Given the description of an element on the screen output the (x, y) to click on. 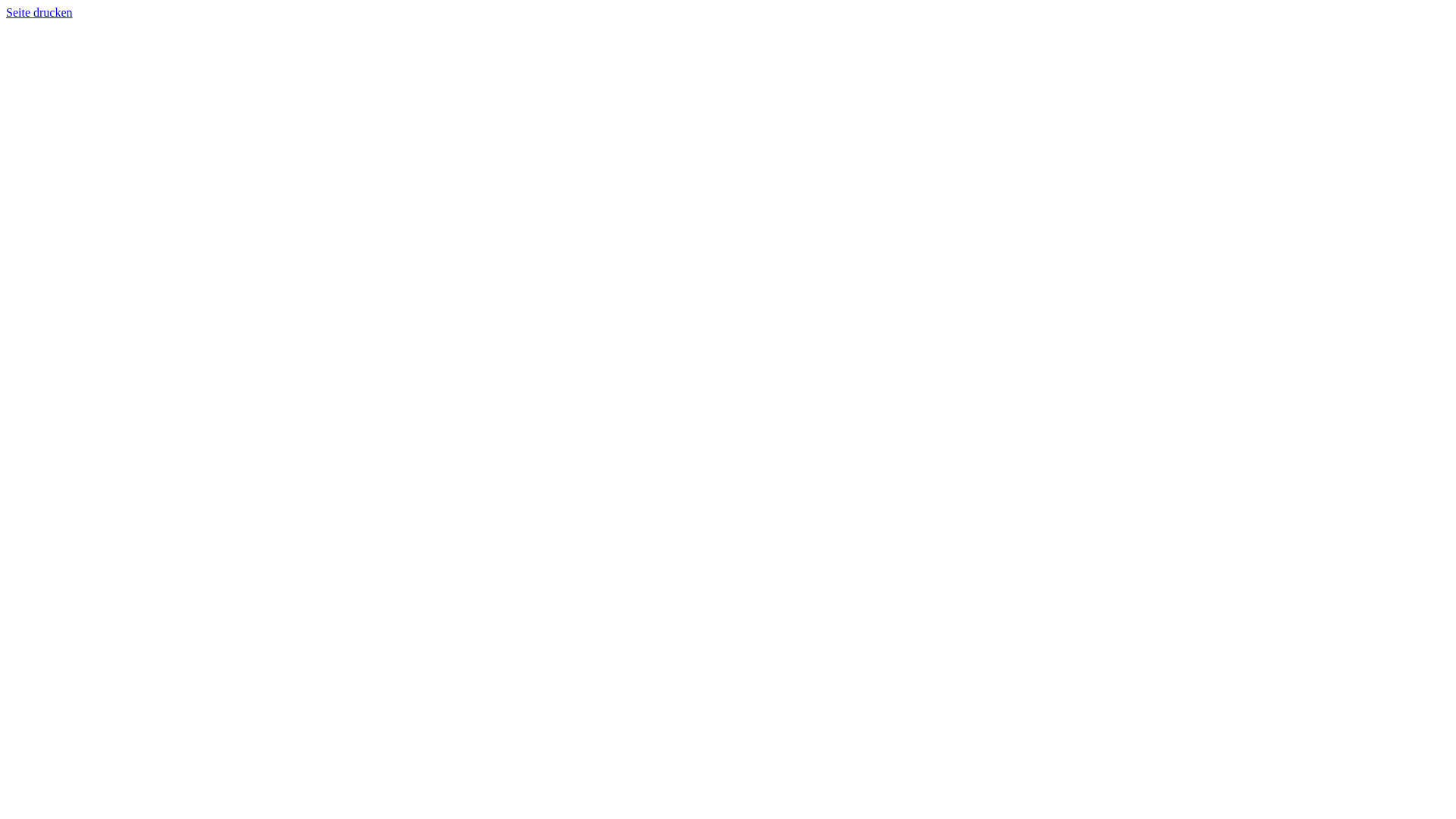
Seite drucken Element type: text (39, 12)
